Given the description of an element on the screen output the (x, y) to click on. 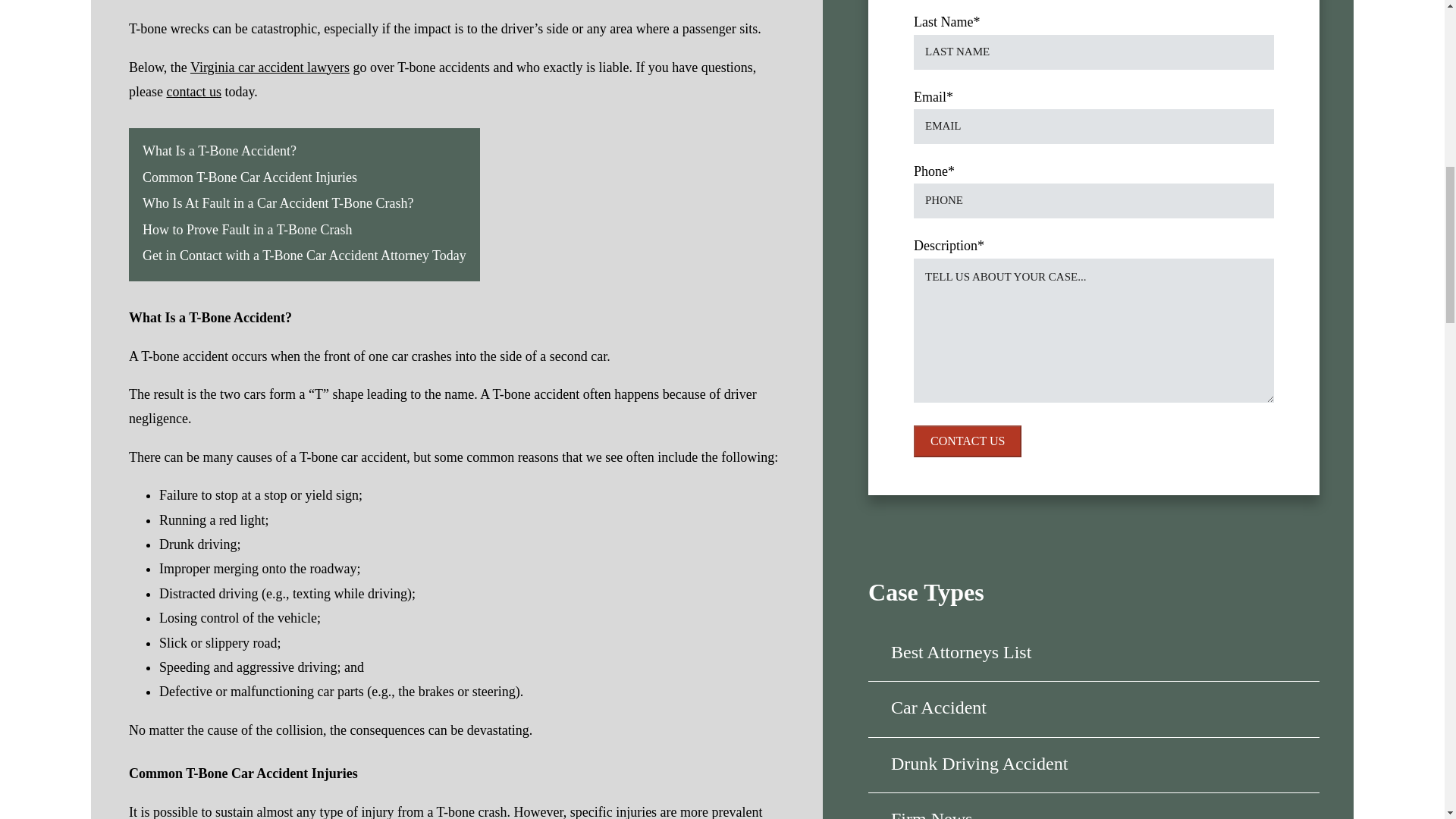
Virginia car accident lawyers (269, 67)
What Is a T-Bone Accident? (219, 150)
Who Is At Fault in a Car Accident T-Bone Crash? (277, 202)
contact us (193, 91)
Common T-Bone Car Accident Injuries (249, 177)
